Given the description of an element on the screen output the (x, y) to click on. 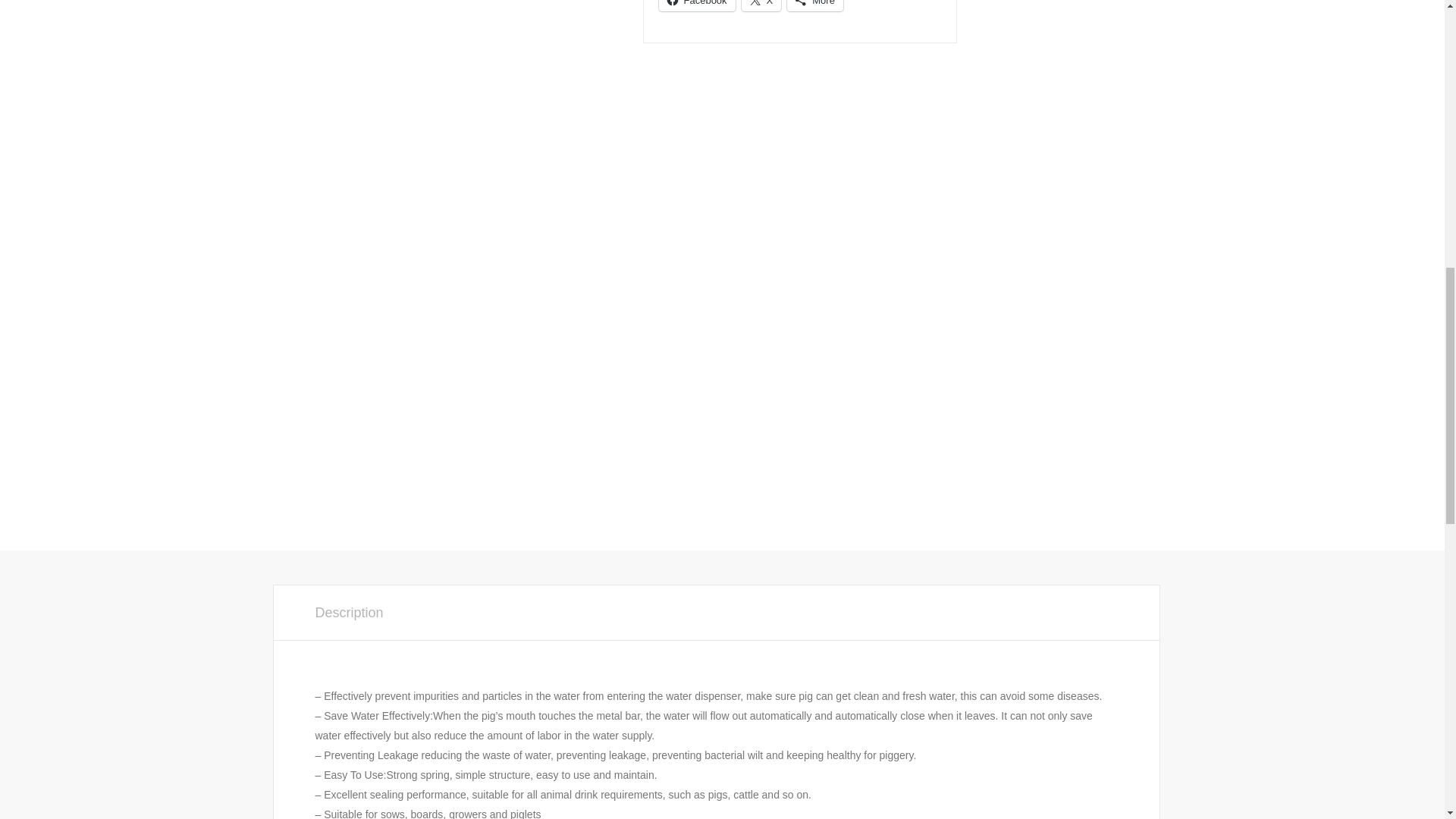
Click to share on X (761, 5)
Click to share on Facebook (696, 5)
